Given the description of an element on the screen output the (x, y) to click on. 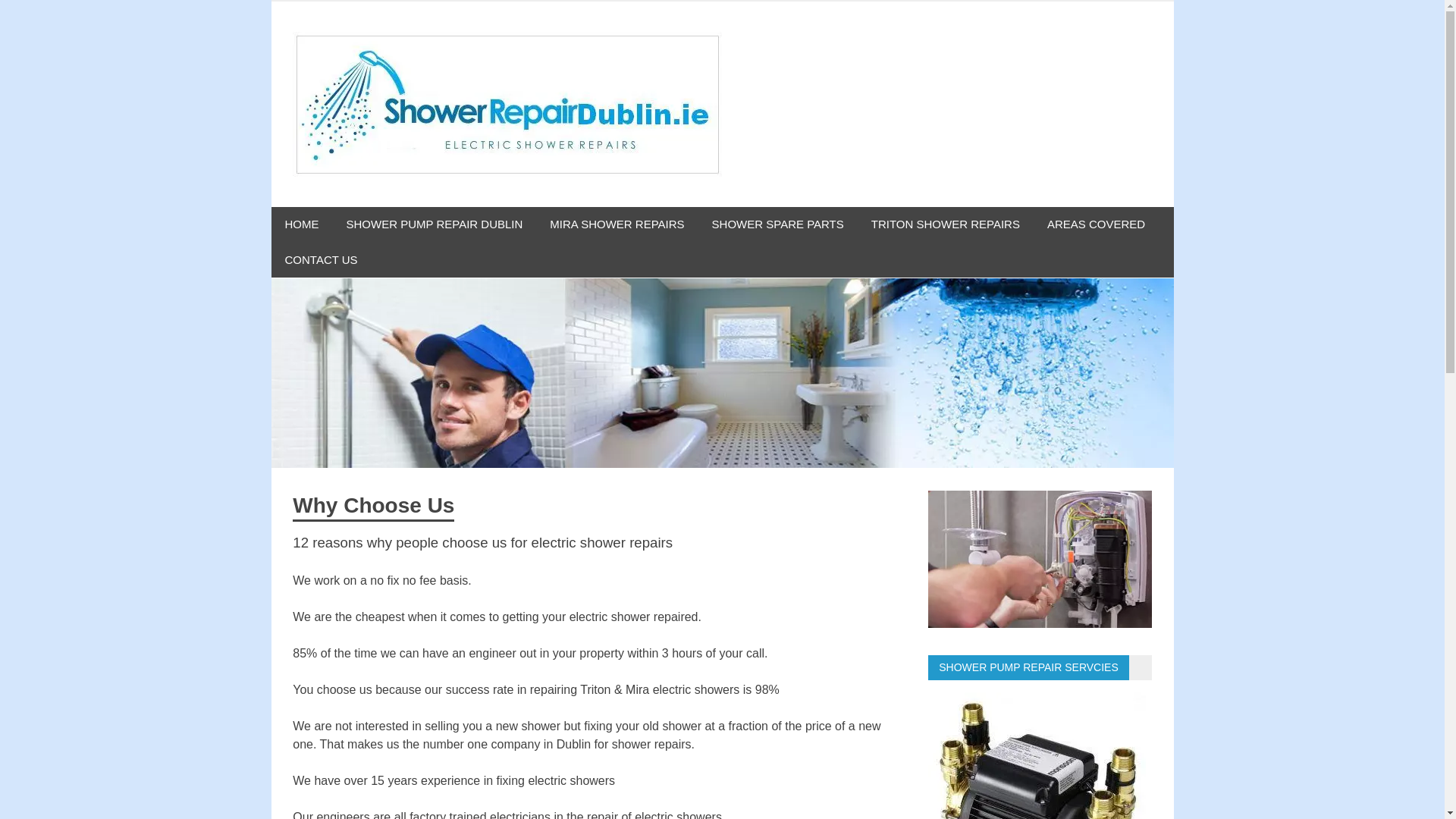
MIRA SHOWER REPAIRS (616, 224)
TRITON SHOWER REPAIRS (945, 224)
SHOWER PUMP REPAIR DUBLIN (433, 224)
SHOWER SPARE PARTS (777, 224)
CONTACT US (320, 260)
AREAS COVERED (1095, 224)
HOME (301, 224)
Shower Repair Dublin (889, 52)
